Given the description of an element on the screen output the (x, y) to click on. 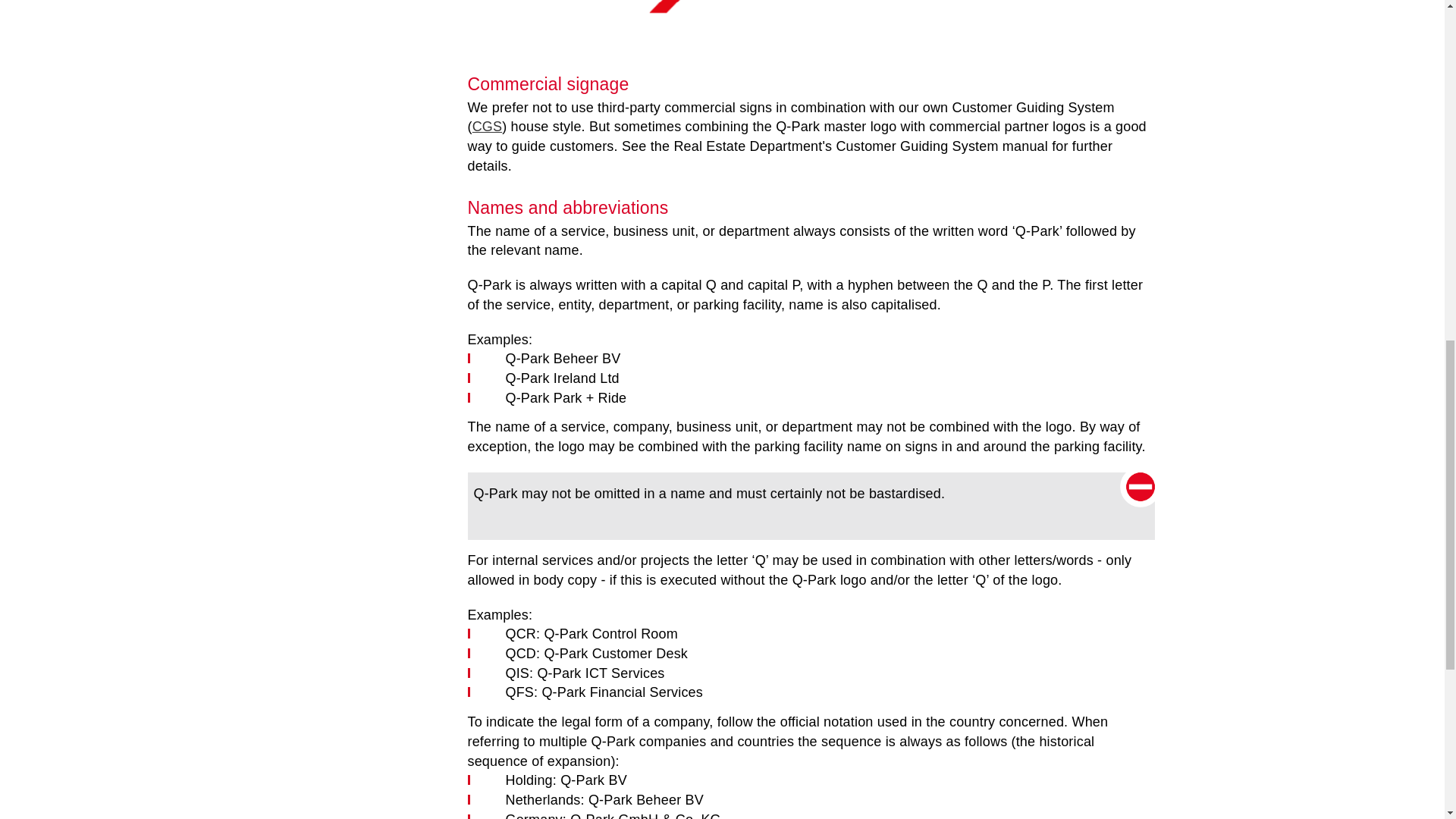
CGS (486, 126)
